Given the description of an element on the screen output the (x, y) to click on. 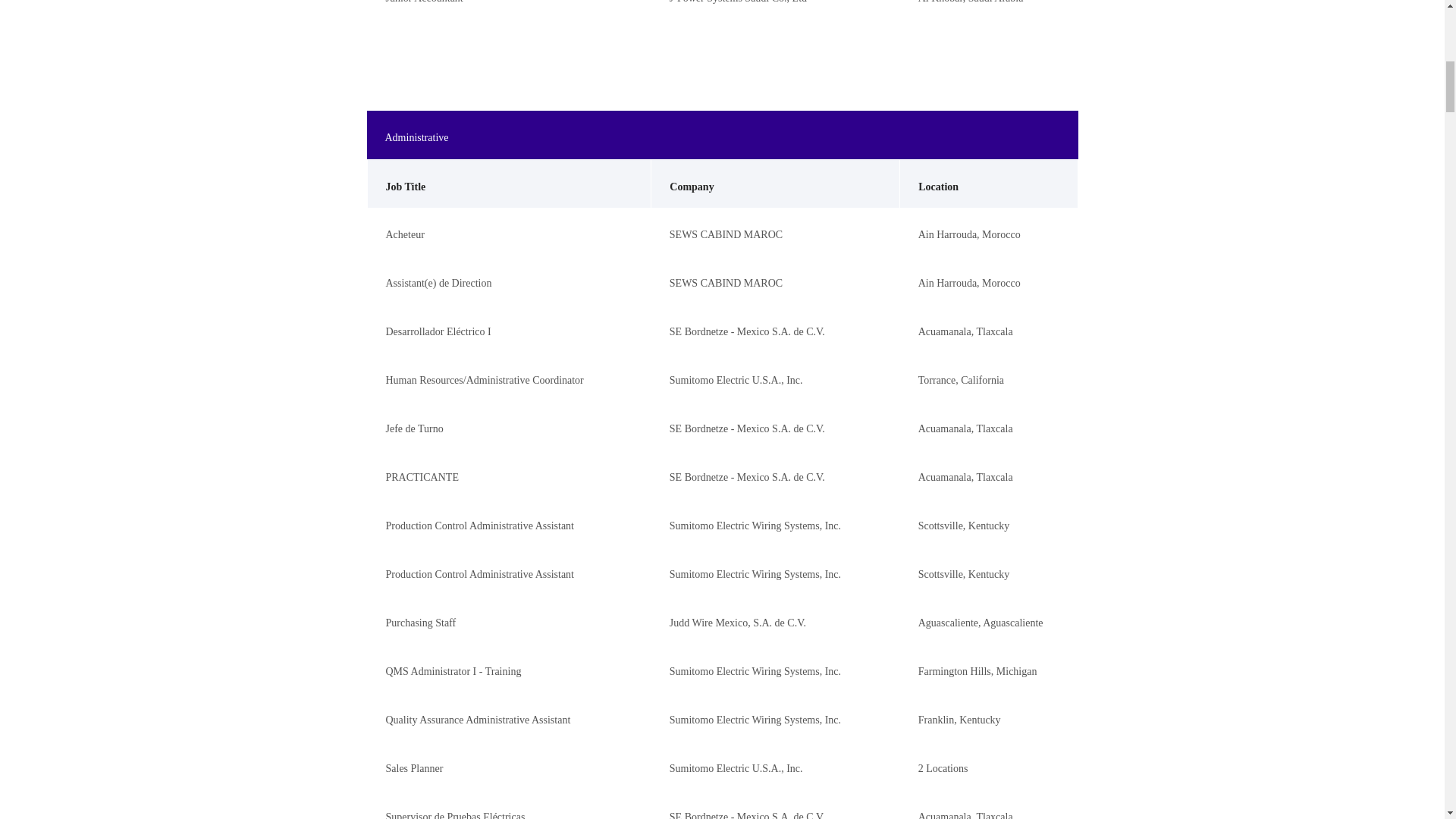
Jefe de Turno (413, 428)
Production Control Administrative Assistant (479, 573)
Quality Assurance Administrative Assistant (477, 719)
Sales Planner (413, 767)
Sales Planner (413, 767)
QMS Administrator I - Training (453, 671)
Junior Accountant (424, 2)
Acheteur (404, 234)
Quality Assurance Administrative Assistant (477, 719)
Jefe de Turno (413, 428)
